Given the description of an element on the screen output the (x, y) to click on. 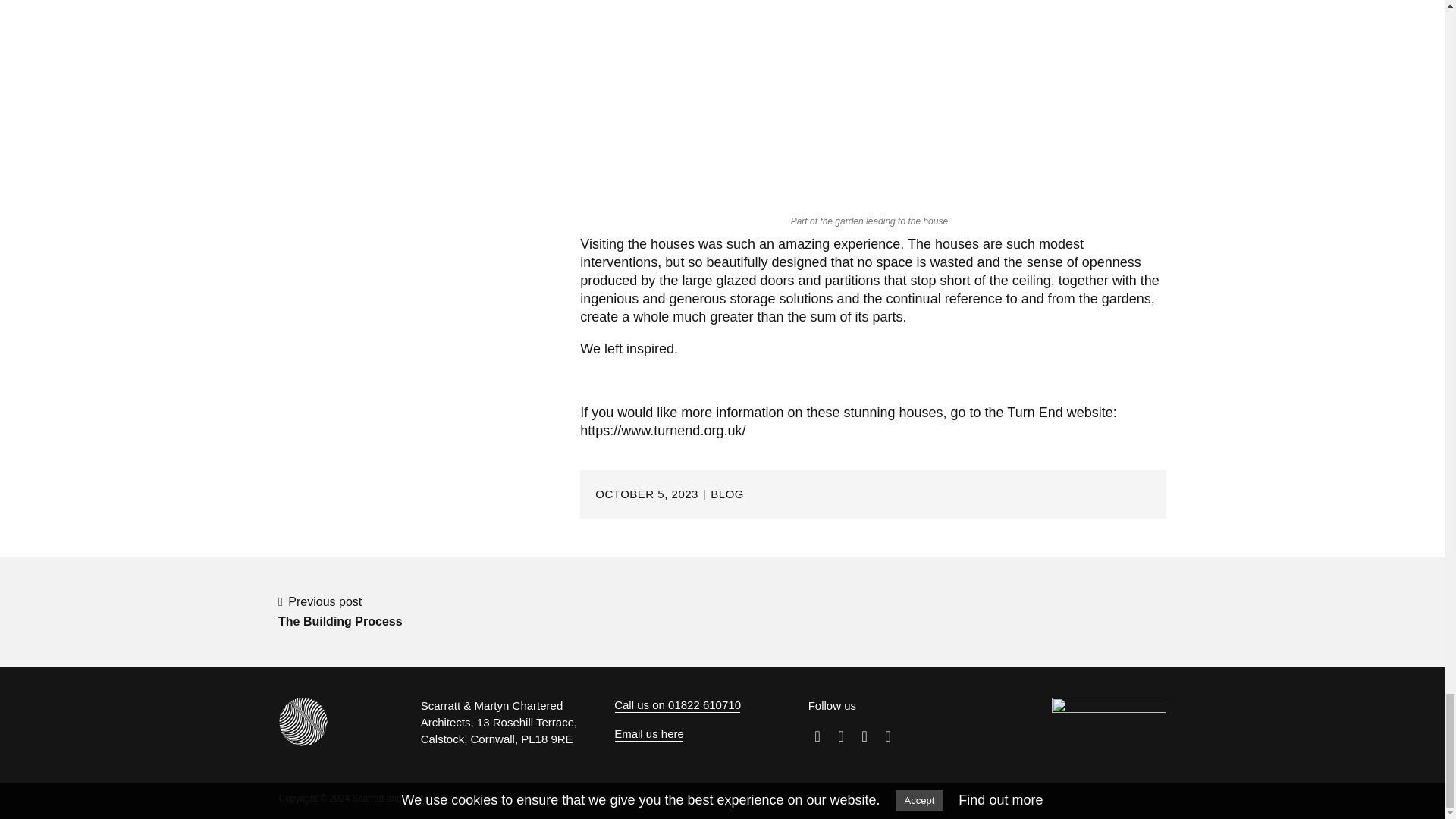
Call us on 01822 610710 (677, 704)
Privacy (528, 798)
Email us here (340, 611)
Matrix (649, 734)
The Building Process (639, 798)
